Given the description of an element on the screen output the (x, y) to click on. 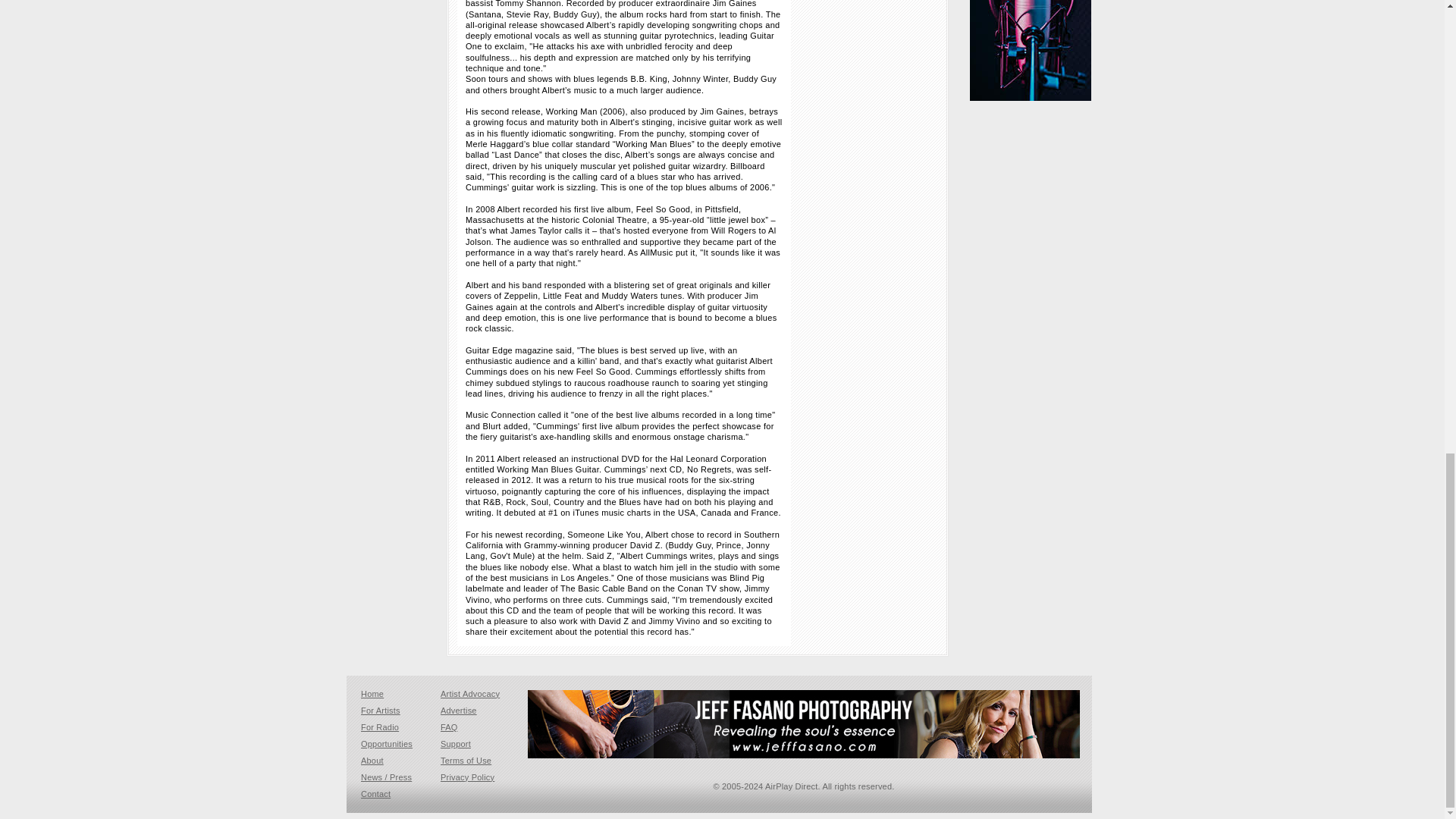
Home (372, 693)
Opportunities (386, 743)
For Radio (379, 727)
For Artists (380, 709)
